Given the description of an element on the screen output the (x, y) to click on. 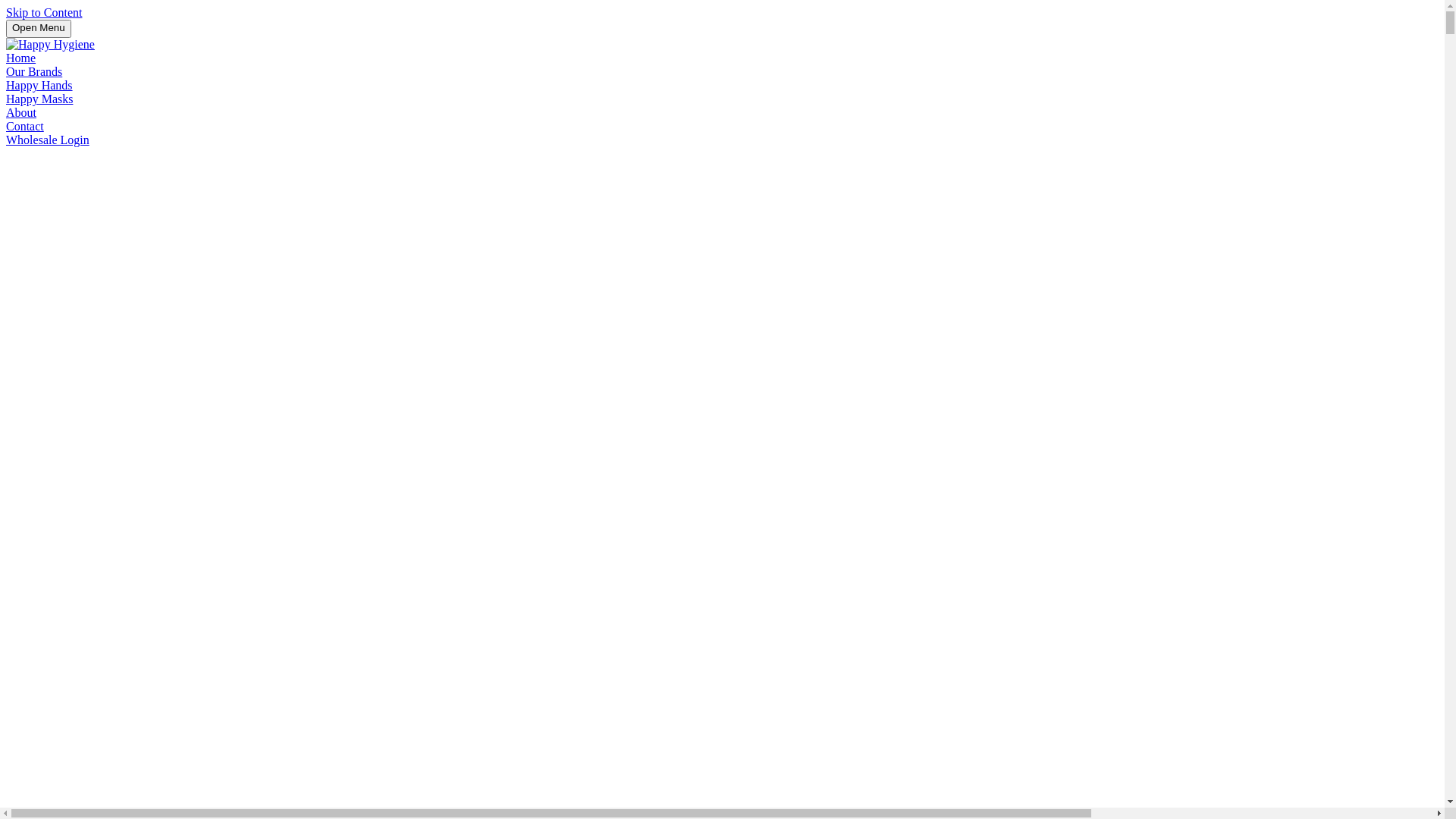
Our Brands Element type: text (34, 71)
About Element type: text (21, 112)
Wholesale Login Element type: text (47, 139)
Happy Masks Element type: text (39, 98)
Skip to Content Element type: text (43, 12)
Home Element type: text (20, 57)
Contact Element type: text (24, 125)
Open Menu Element type: text (38, 28)
Happy Hands Element type: text (39, 84)
